Given the description of an element on the screen output the (x, y) to click on. 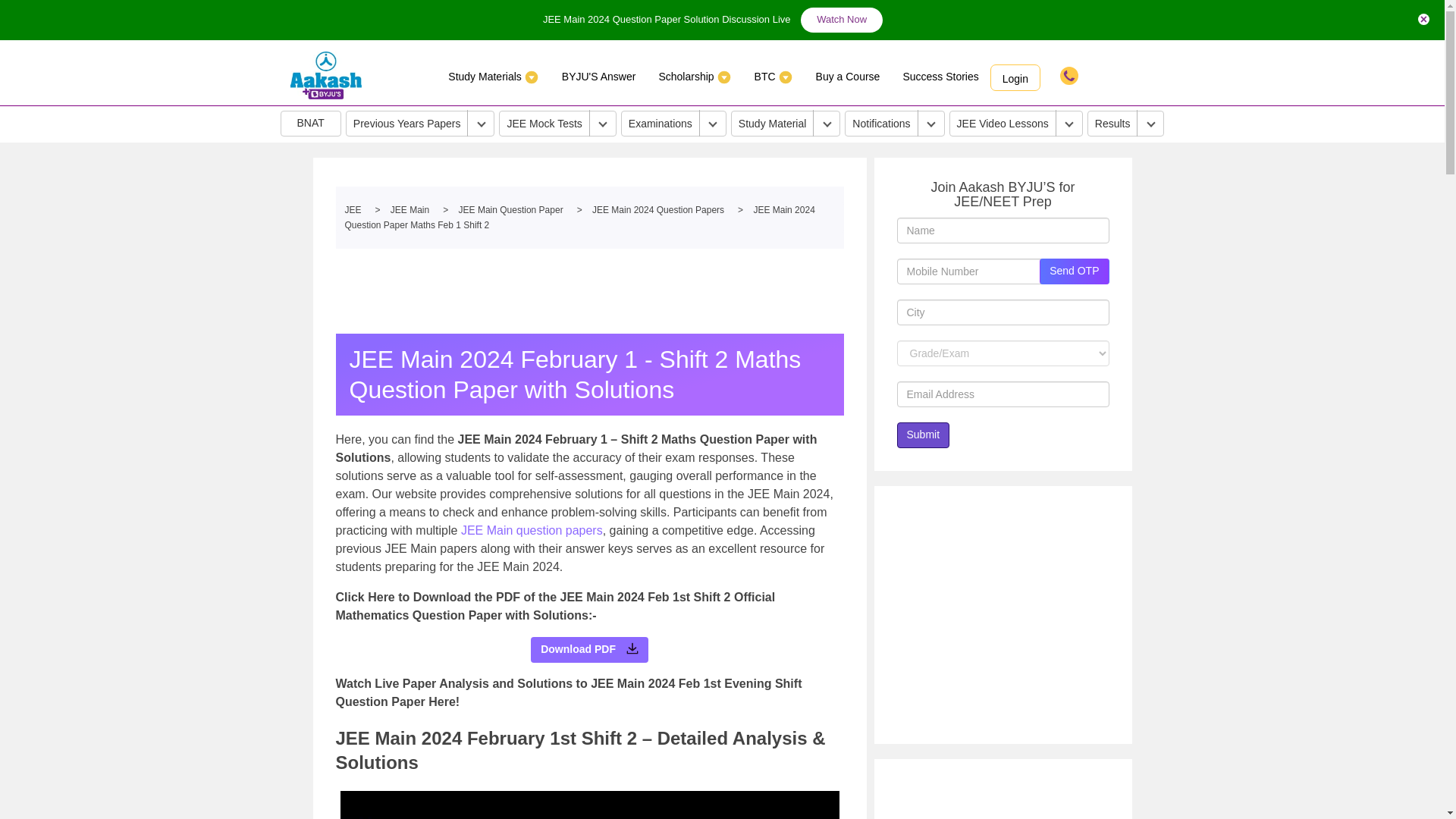
Watch Now (841, 19)
Study Materials (493, 75)
Download PDF (632, 648)
